Given the description of an element on the screen output the (x, y) to click on. 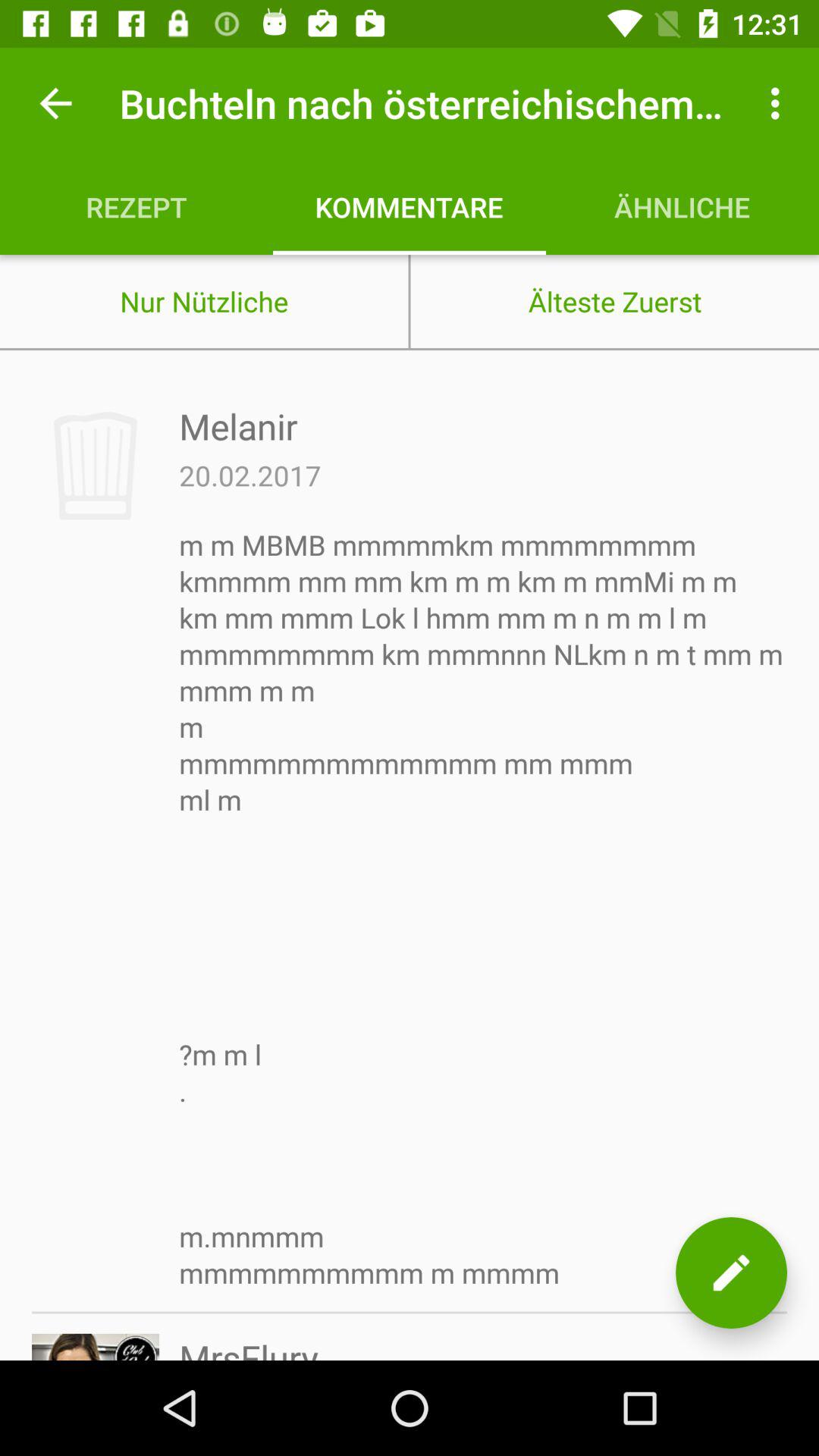
launch the item below the melanir (250, 475)
